Given the description of an element on the screen output the (x, y) to click on. 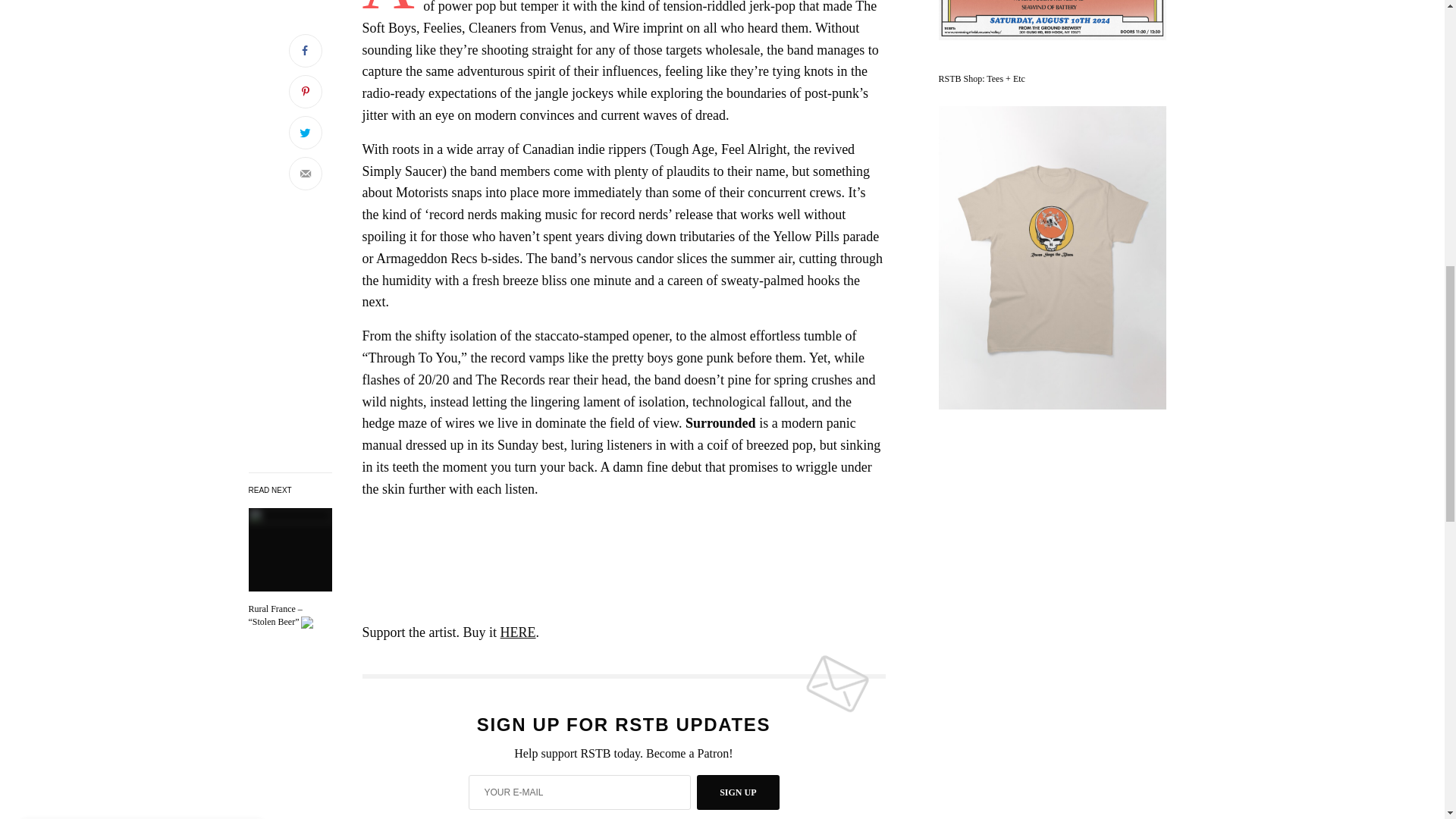
Motorists  (289, 615)
Become a Patron! (689, 753)
SIGN UP (737, 791)
HERE (517, 631)
